Given the description of an element on the screen output the (x, y) to click on. 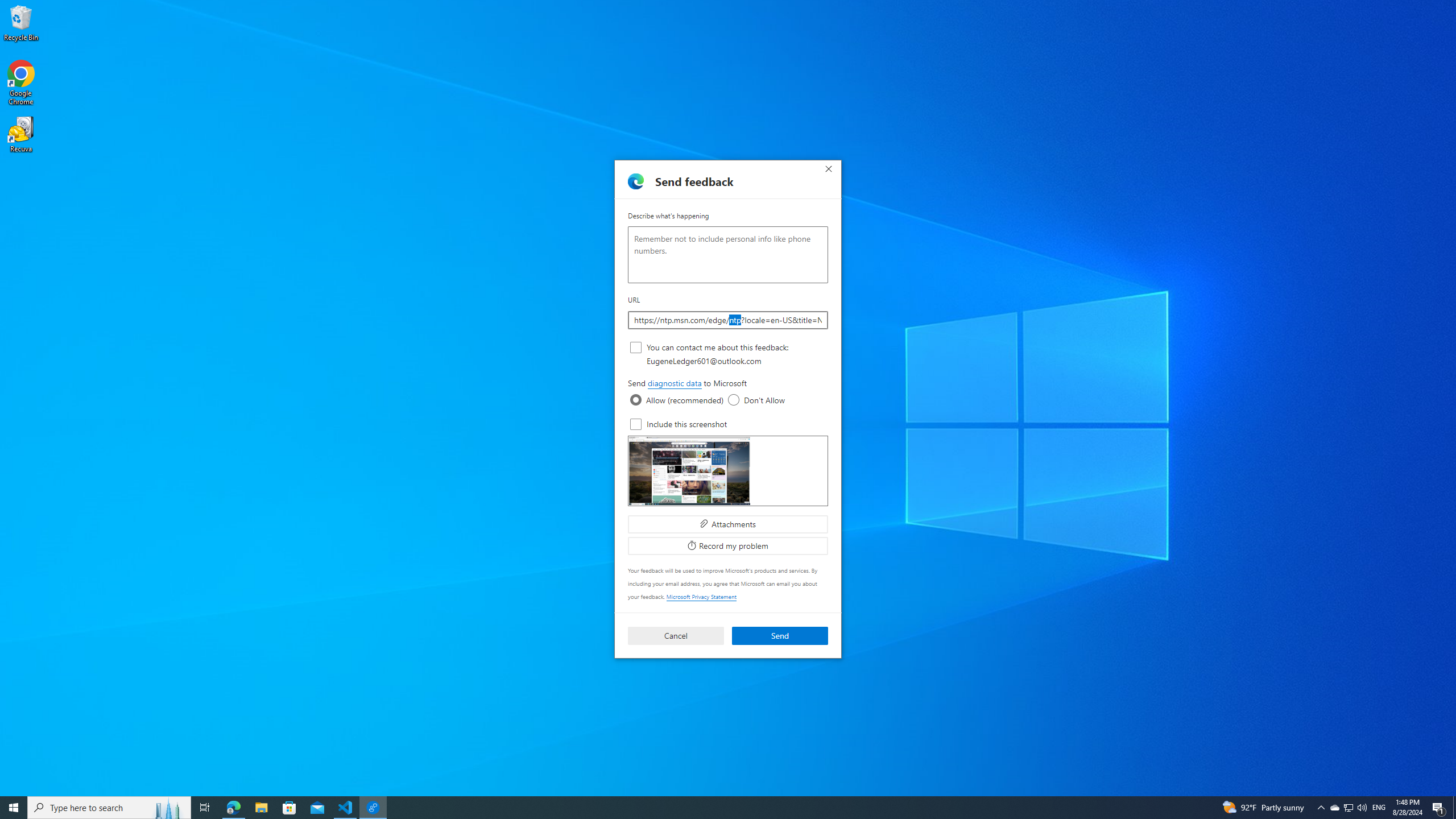
Show desktop (1454, 807)
Allow (recommended) (636, 399)
Microsoft Edge - 1 running window (233, 807)
Task View (204, 807)
Attachments (727, 523)
URL (727, 319)
Visual Studio Code - 1 running window (345, 807)
Describe what's happening (727, 255)
Start (13, 807)
Cancel (675, 635)
Action Center, 1 new notification (1333, 807)
